Given the description of an element on the screen output the (x, y) to click on. 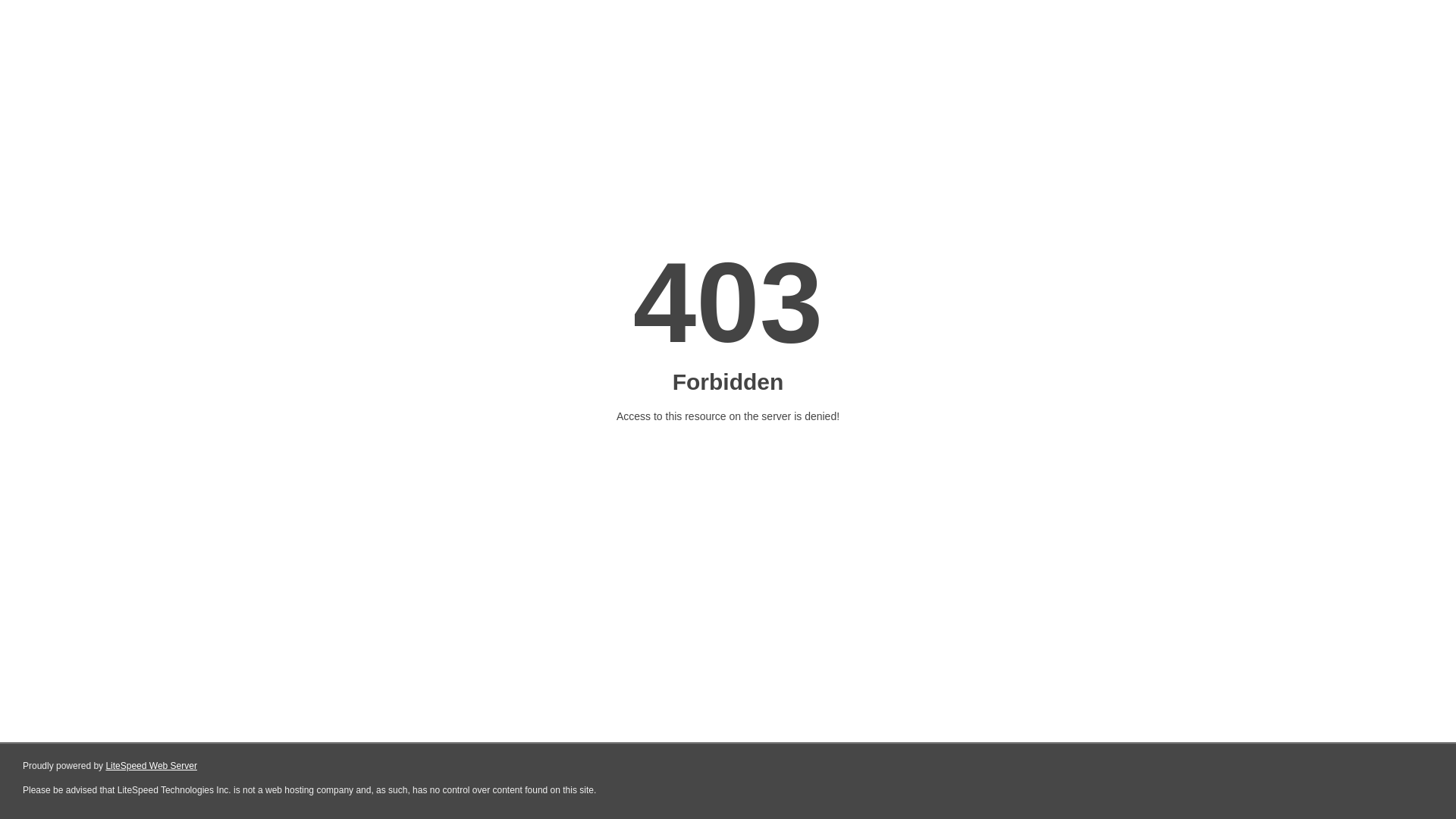
LiteSpeed Web Server Element type: text (151, 765)
